Given the description of an element on the screen output the (x, y) to click on. 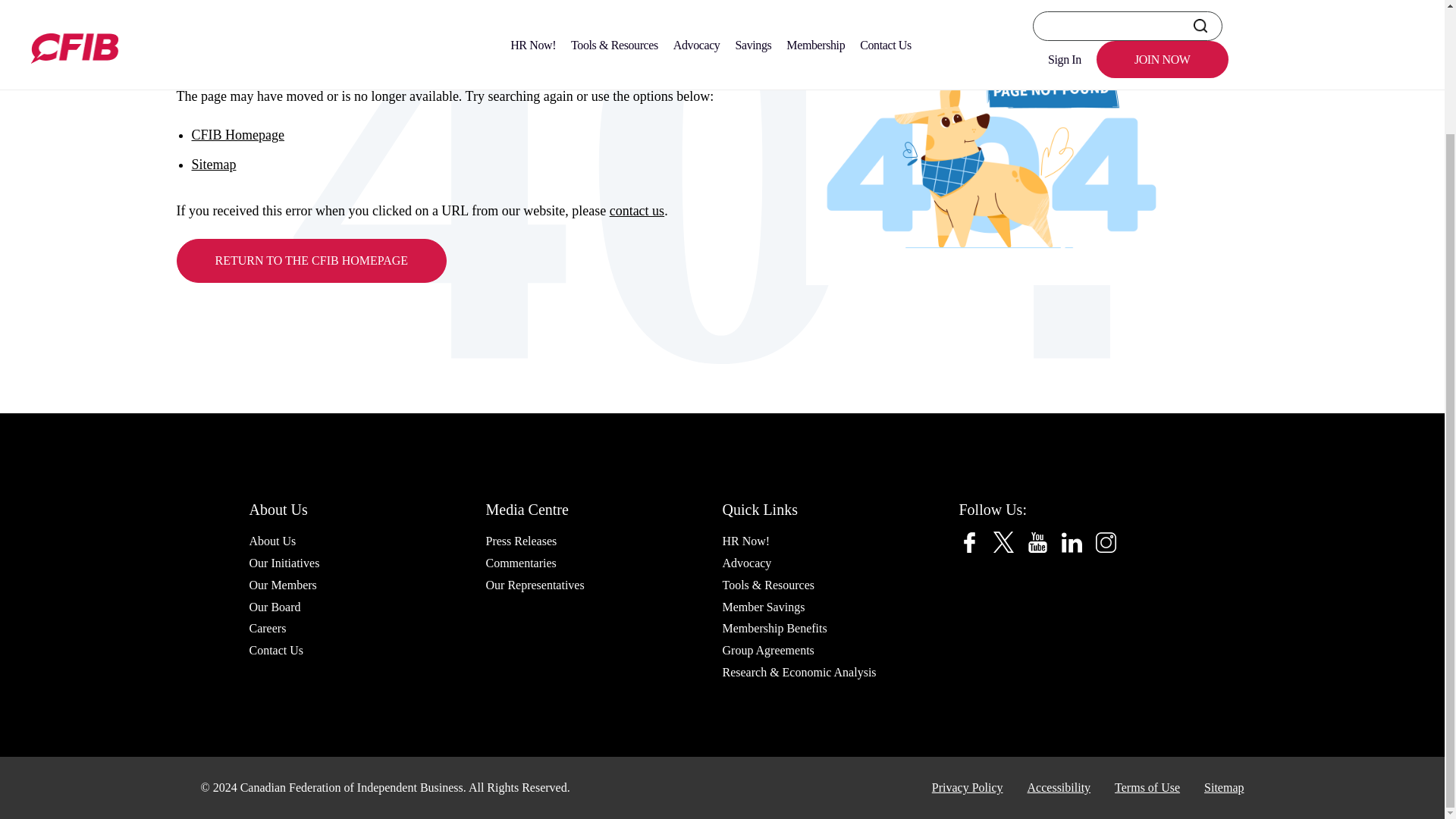
Our Board (273, 606)
RETURN TO THE CFIB HOMEPAGE (311, 260)
HR Now! (746, 540)
CFIB Homepage (236, 134)
Sitemap (212, 164)
About Us (271, 540)
Our Initiatives (283, 562)
Press Releases (520, 540)
Advocacy (746, 562)
Careers (266, 628)
